Given the description of an element on the screen output the (x, y) to click on. 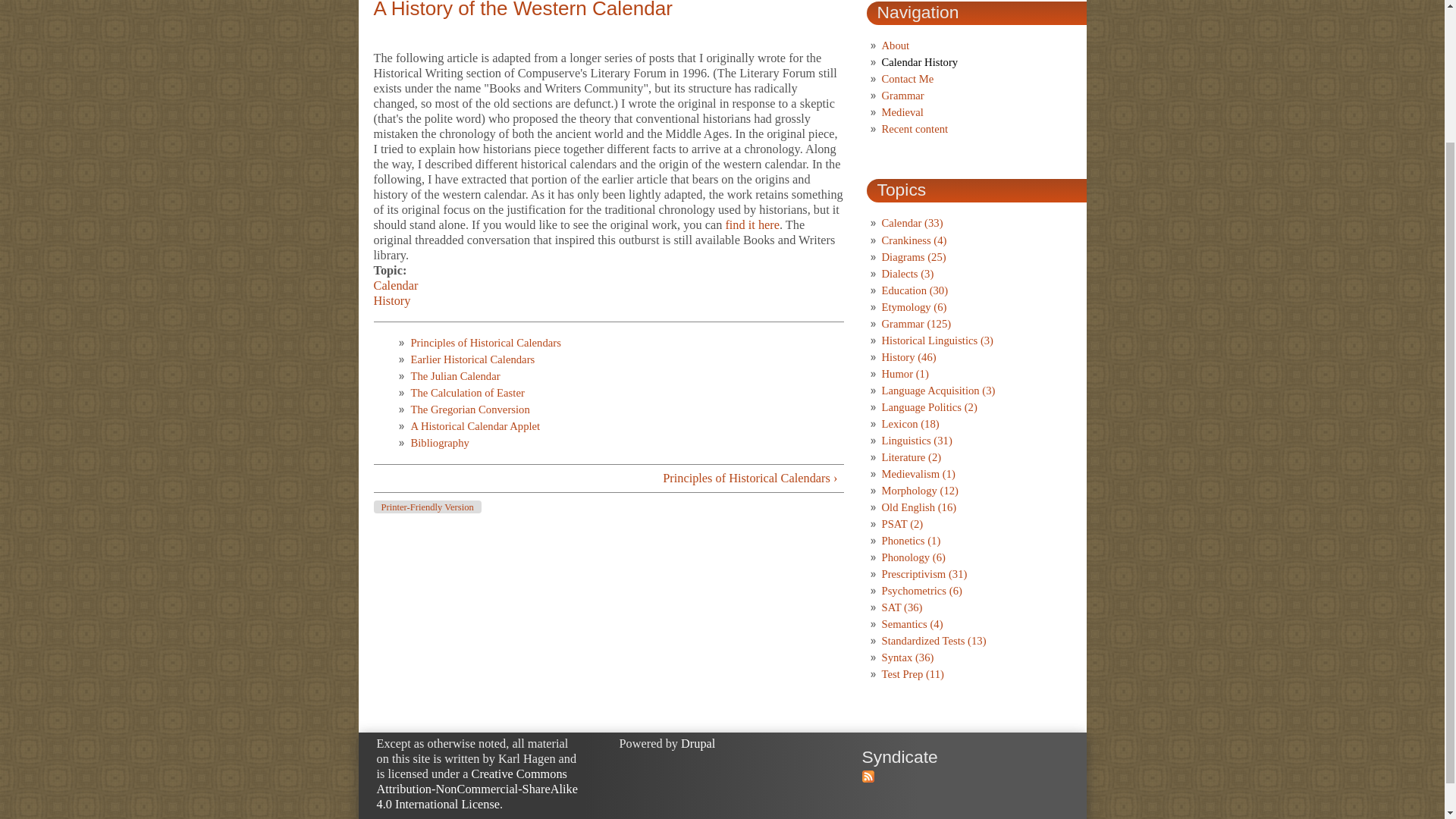
The Gregorian Conversion (469, 409)
Earlier Historical Calendars (472, 358)
Bibliography (439, 442)
Printer-Friendly Version (426, 506)
Grammar (901, 95)
The Julian Calendar (454, 376)
A Historical Calendar Applet (475, 426)
Recent content (913, 128)
Calendar (394, 285)
